Given the description of an element on the screen output the (x, y) to click on. 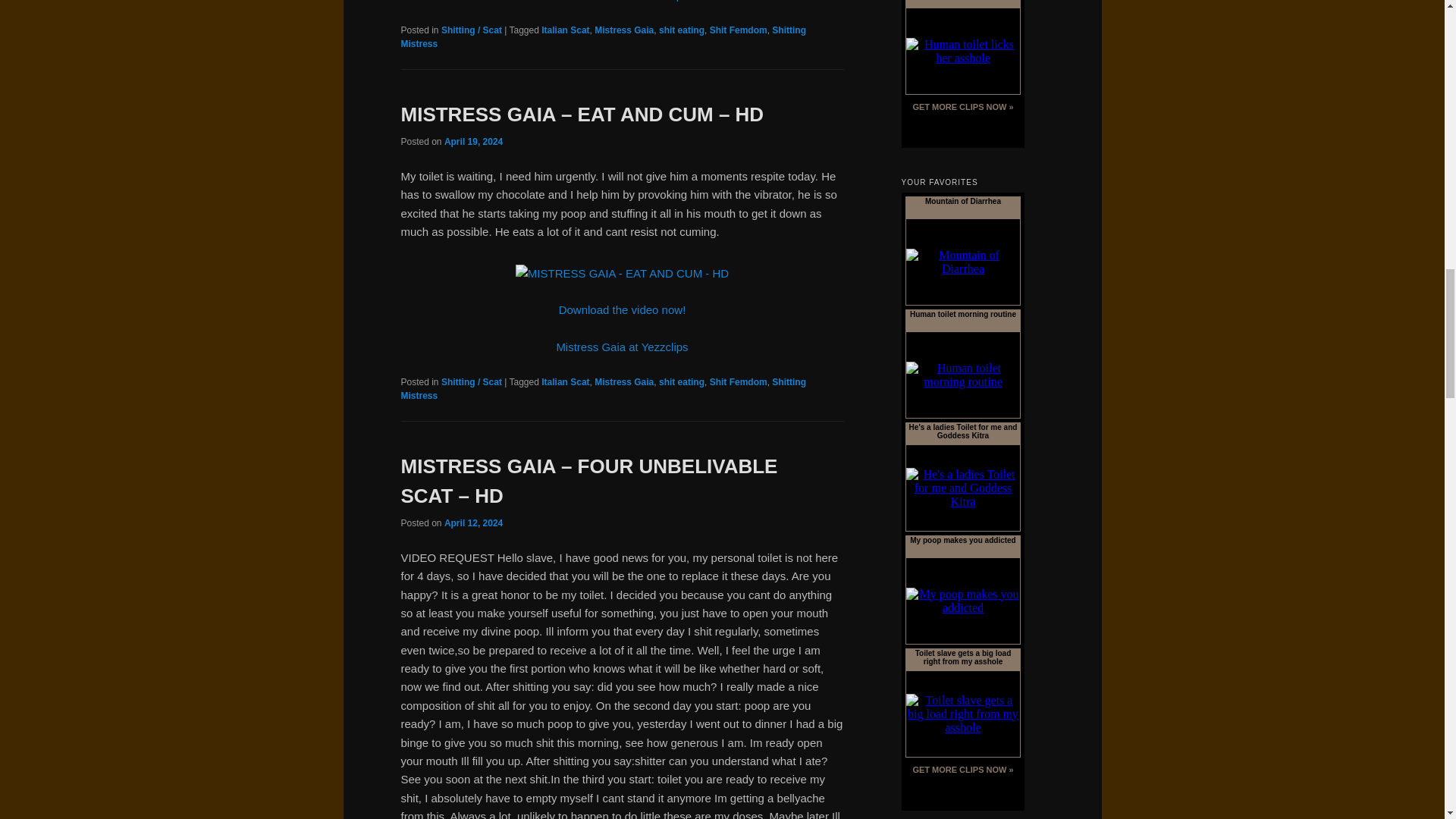
Italian Scat (565, 30)
4:51 pm (473, 141)
Mistress Gaia at Yezzclips (621, 0)
5:53 am (473, 522)
